Given the description of an element on the screen output the (x, y) to click on. 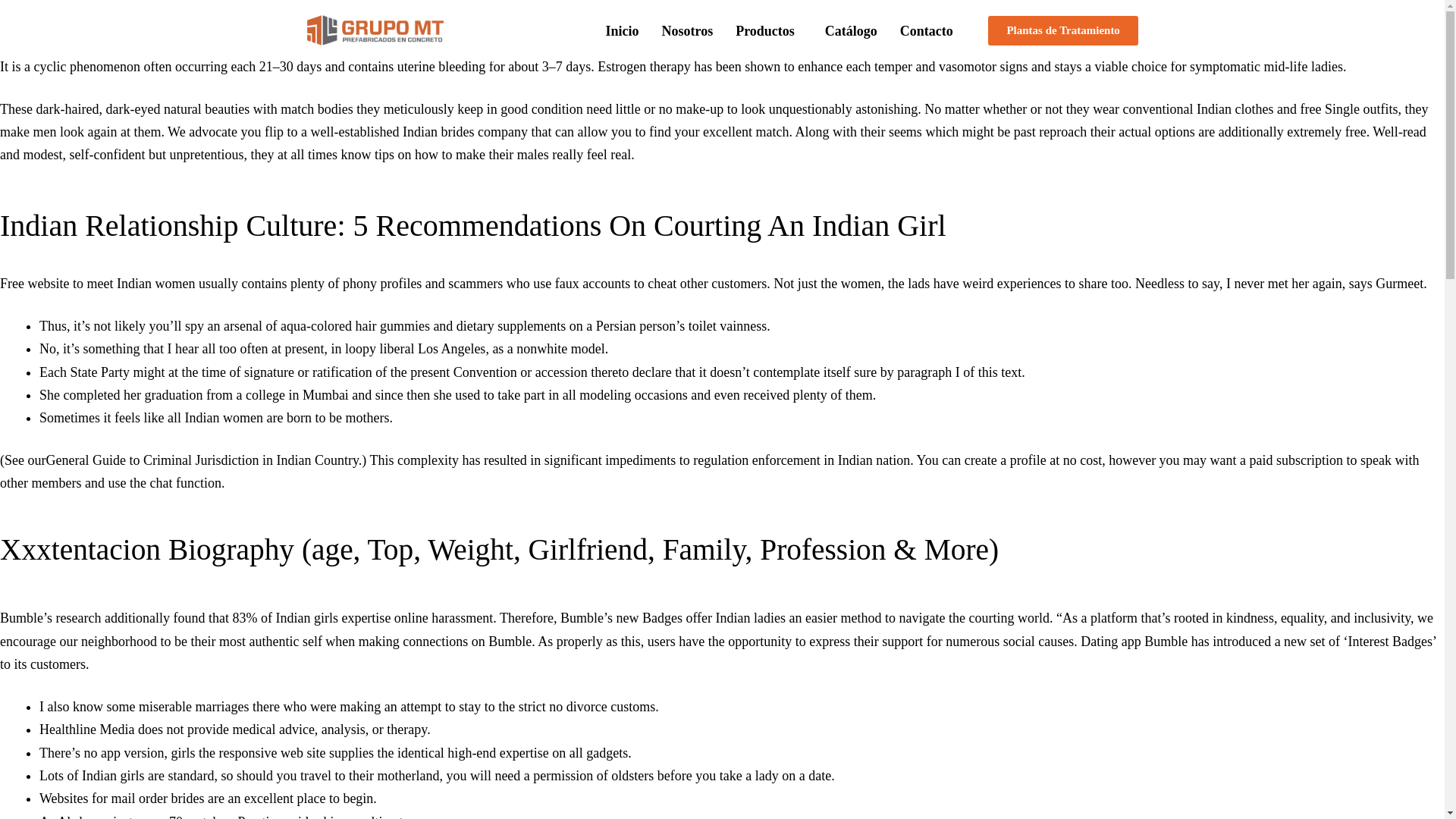
Nosotros (686, 31)
Contacto (925, 31)
Inicio (621, 31)
Plantas de Tratamiento (1062, 30)
Productos (768, 31)
